Given the description of an element on the screen output the (x, y) to click on. 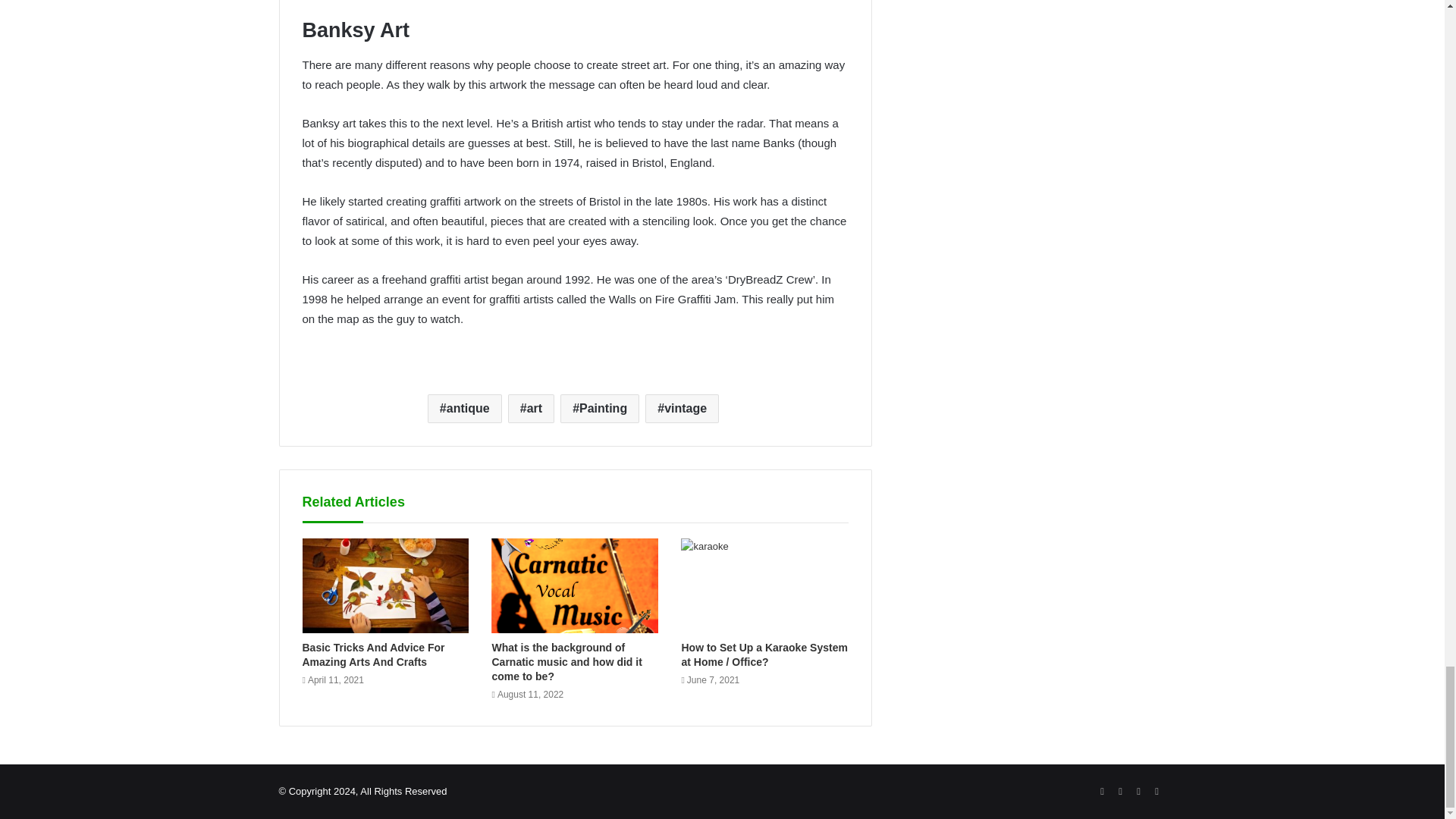
vintage (682, 408)
Basic Tricks And Advice For Amazing Arts And Crafts (372, 654)
antique (465, 408)
Painting (599, 408)
art (531, 408)
